Given the description of an element on the screen output the (x, y) to click on. 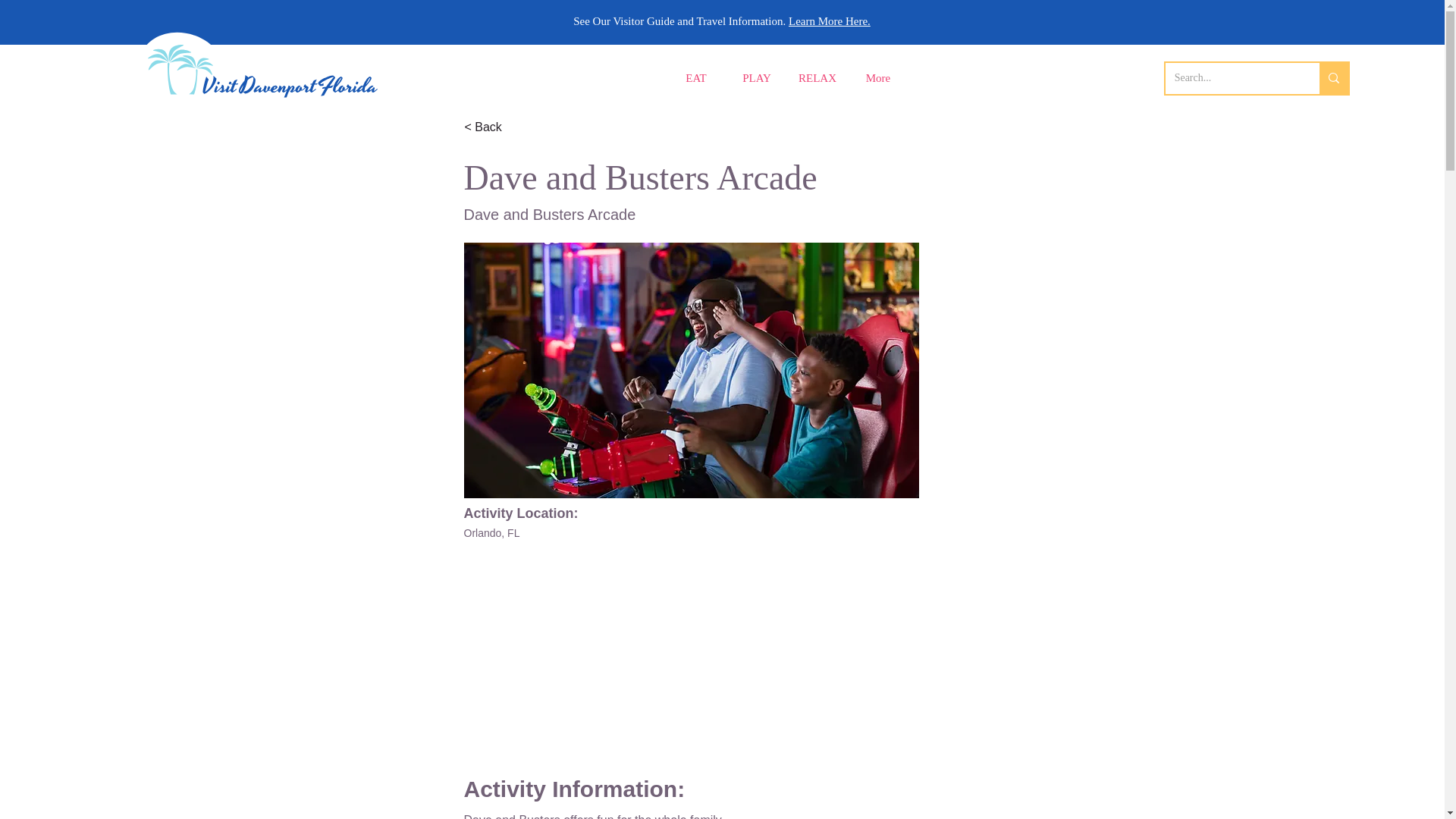
Arcade Experience.jpg (691, 369)
Learn More Here. (829, 21)
PLAY (756, 78)
RELAX (817, 78)
EAT (695, 78)
